Given the description of an element on the screen output the (x, y) to click on. 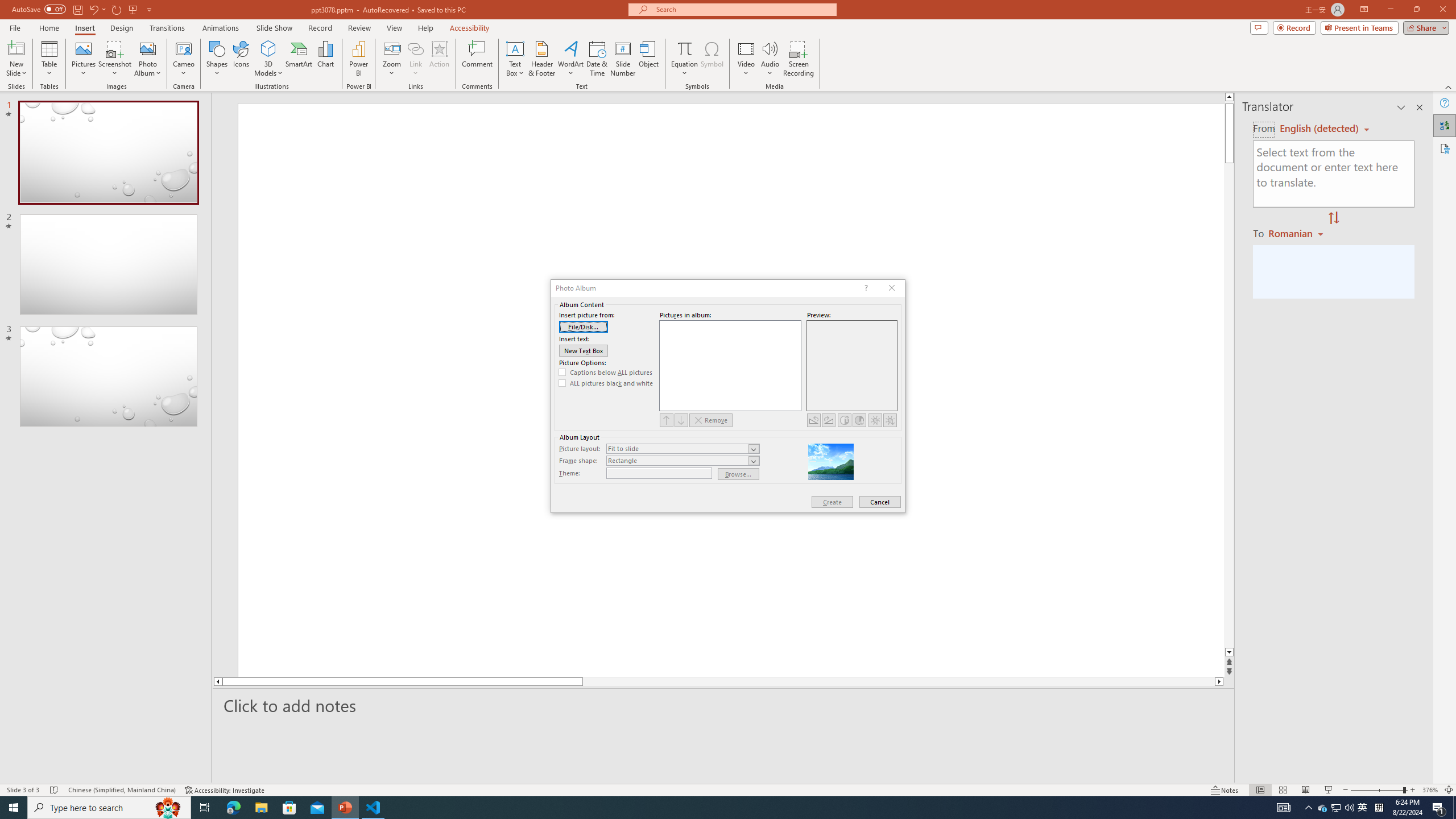
Video (745, 58)
Header & Footer... (541, 58)
